Given the description of an element on the screen output the (x, y) to click on. 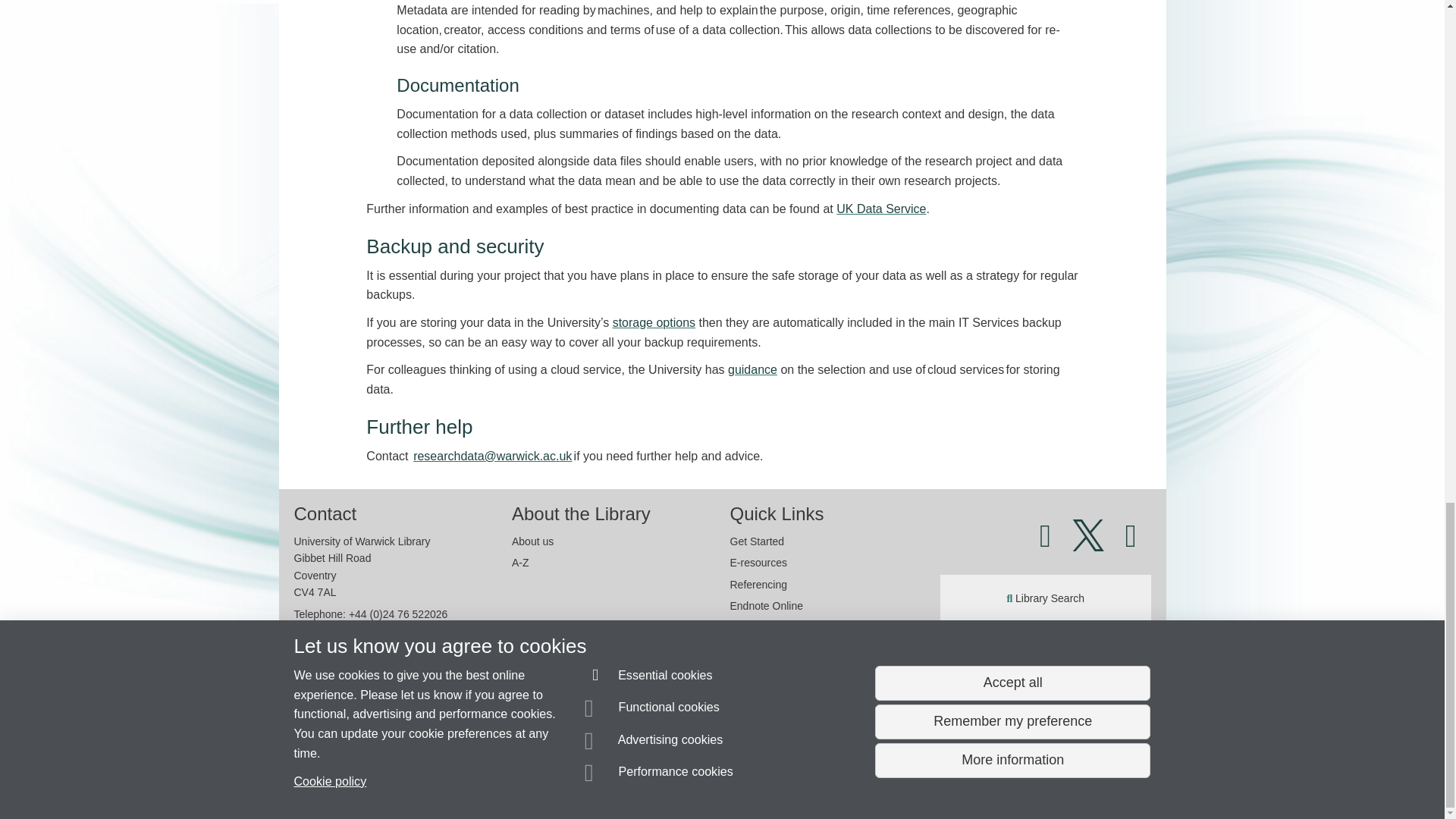
Send an email to Enquiries (371, 751)
Copyright Statement (514, 780)
More information about SiteBuilder (365, 780)
Terms of use (708, 780)
Information about cookies (467, 780)
The Library on Instagram (1130, 542)
The Library on Facebook (1050, 542)
The Library on Twitter (1088, 542)
Privacy notice (673, 780)
